Given the description of an element on the screen output the (x, y) to click on. 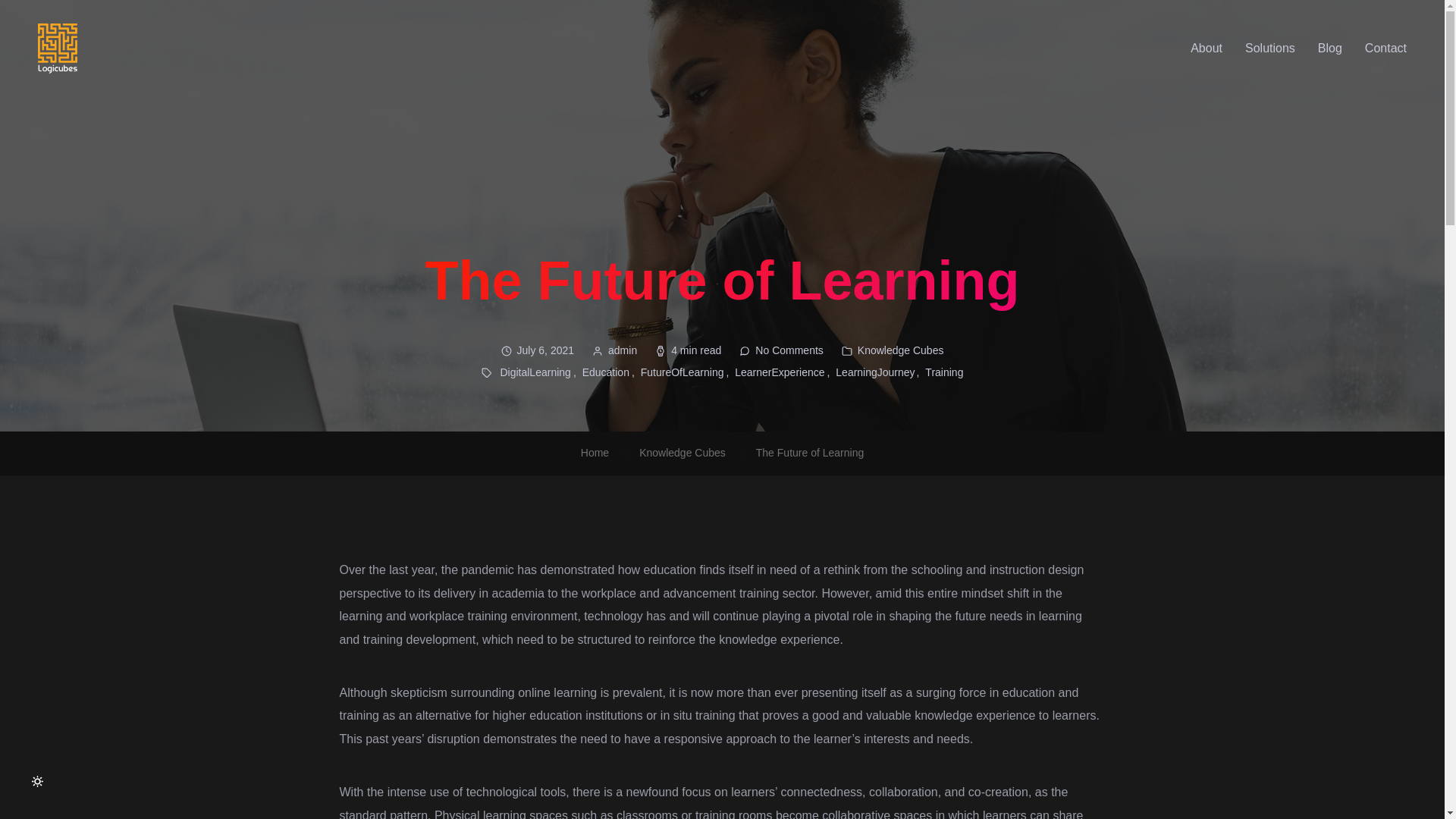
LearningJourney (878, 371)
LearnerExperience (783, 371)
Knowledge Cubes (900, 350)
No Comments (788, 350)
Knowledge Cubes (682, 452)
Solutions (1269, 48)
Education (609, 371)
Training (943, 371)
The Future of Learning (809, 452)
FutureOfLearning (686, 371)
